Given the description of an element on the screen output the (x, y) to click on. 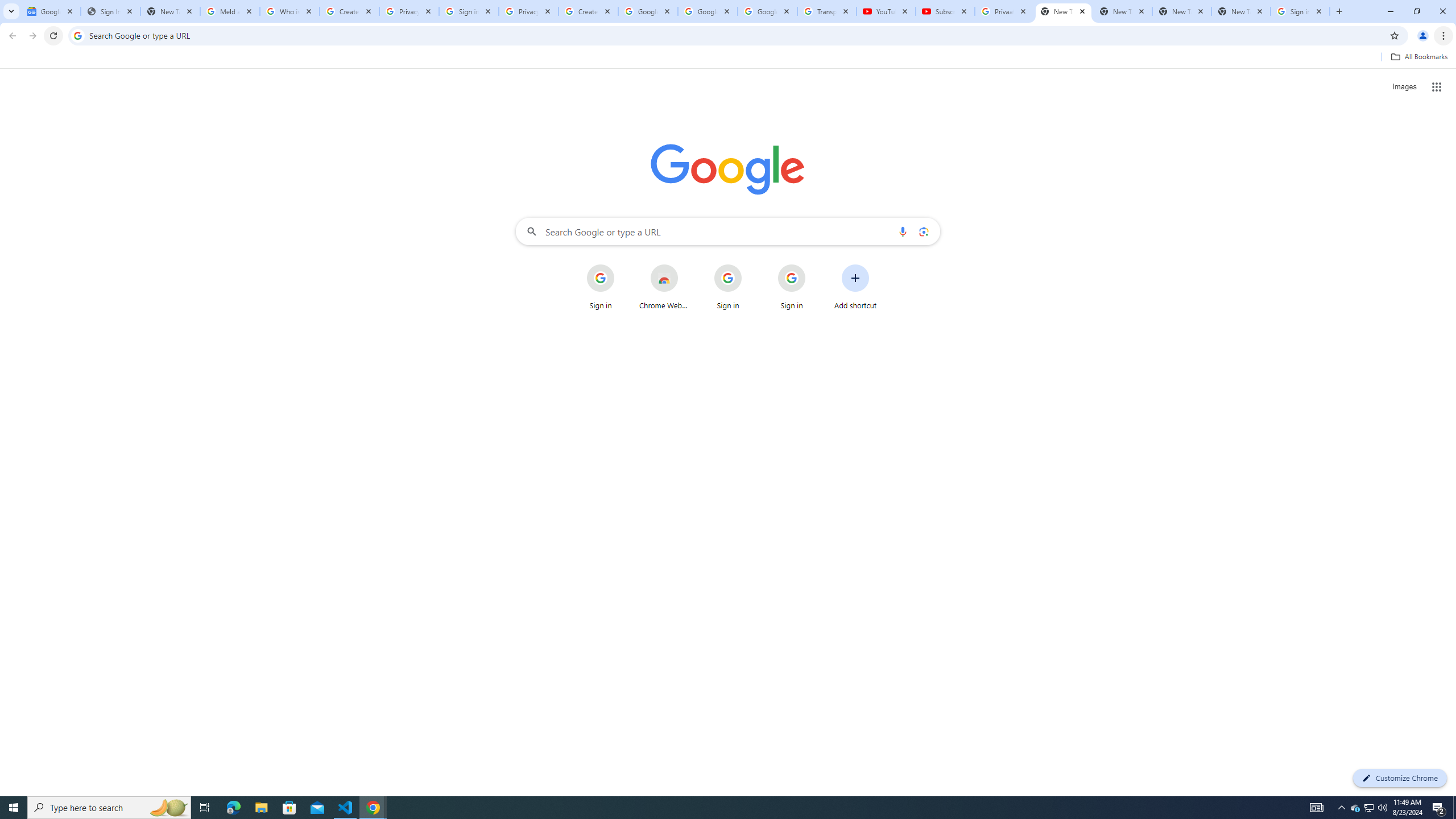
YouTube (885, 11)
Sign in - Google Accounts (468, 11)
Search Google or type a URL (727, 230)
Google Account (767, 11)
Google News (50, 11)
Create your Google Account (588, 11)
Sign in - Google Accounts (1300, 11)
Chrome Web Store (663, 287)
